Given the description of an element on the screen output the (x, y) to click on. 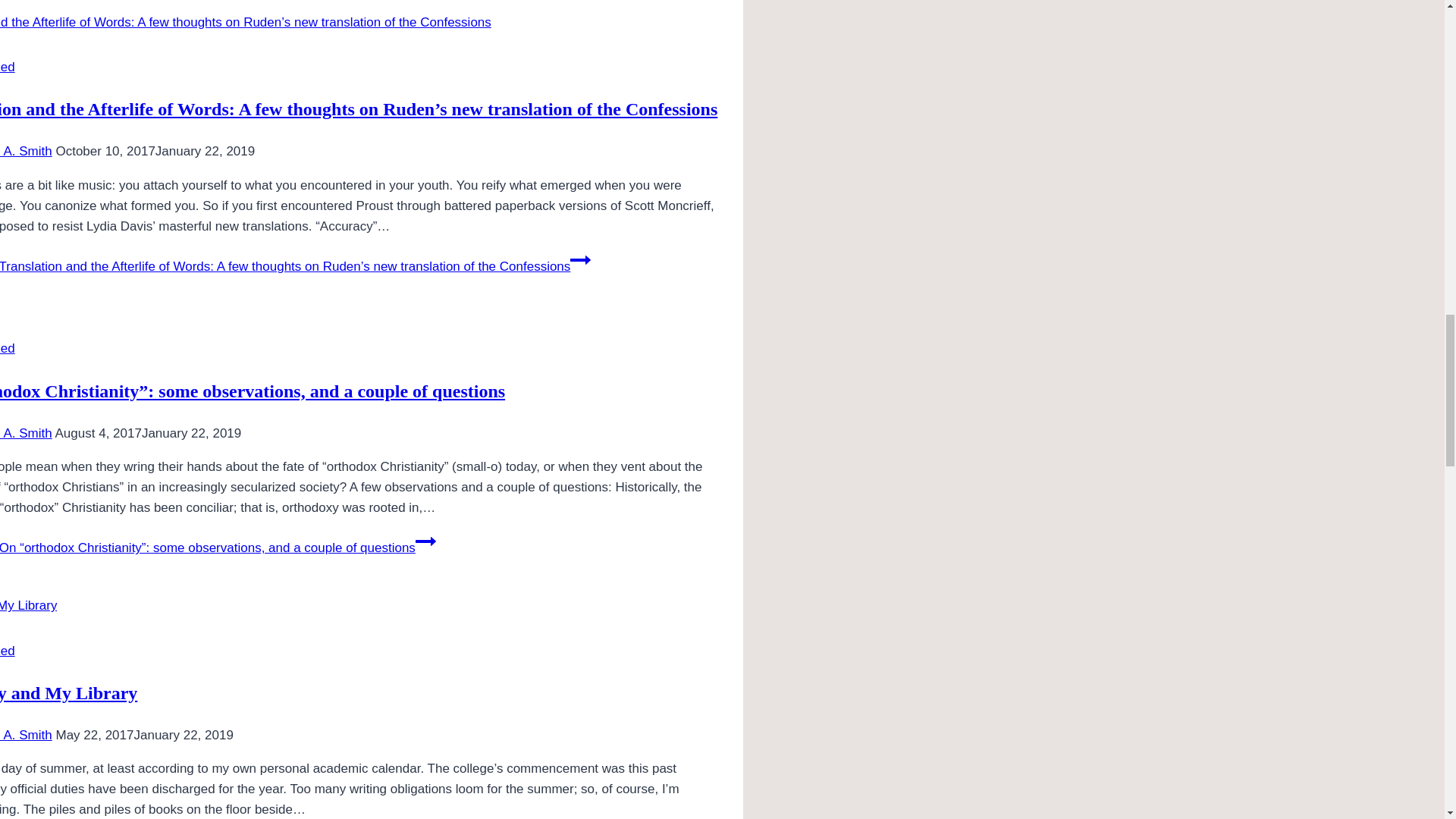
Continue (580, 260)
James K. A. Smith (26, 735)
Continue (424, 541)
James K. A. Smith (26, 151)
James K. A. Smith (26, 432)
Uncategorized (7, 650)
Mortality and My Library (68, 692)
Uncategorized (7, 66)
Uncategorized (7, 348)
